Given the description of an element on the screen output the (x, y) to click on. 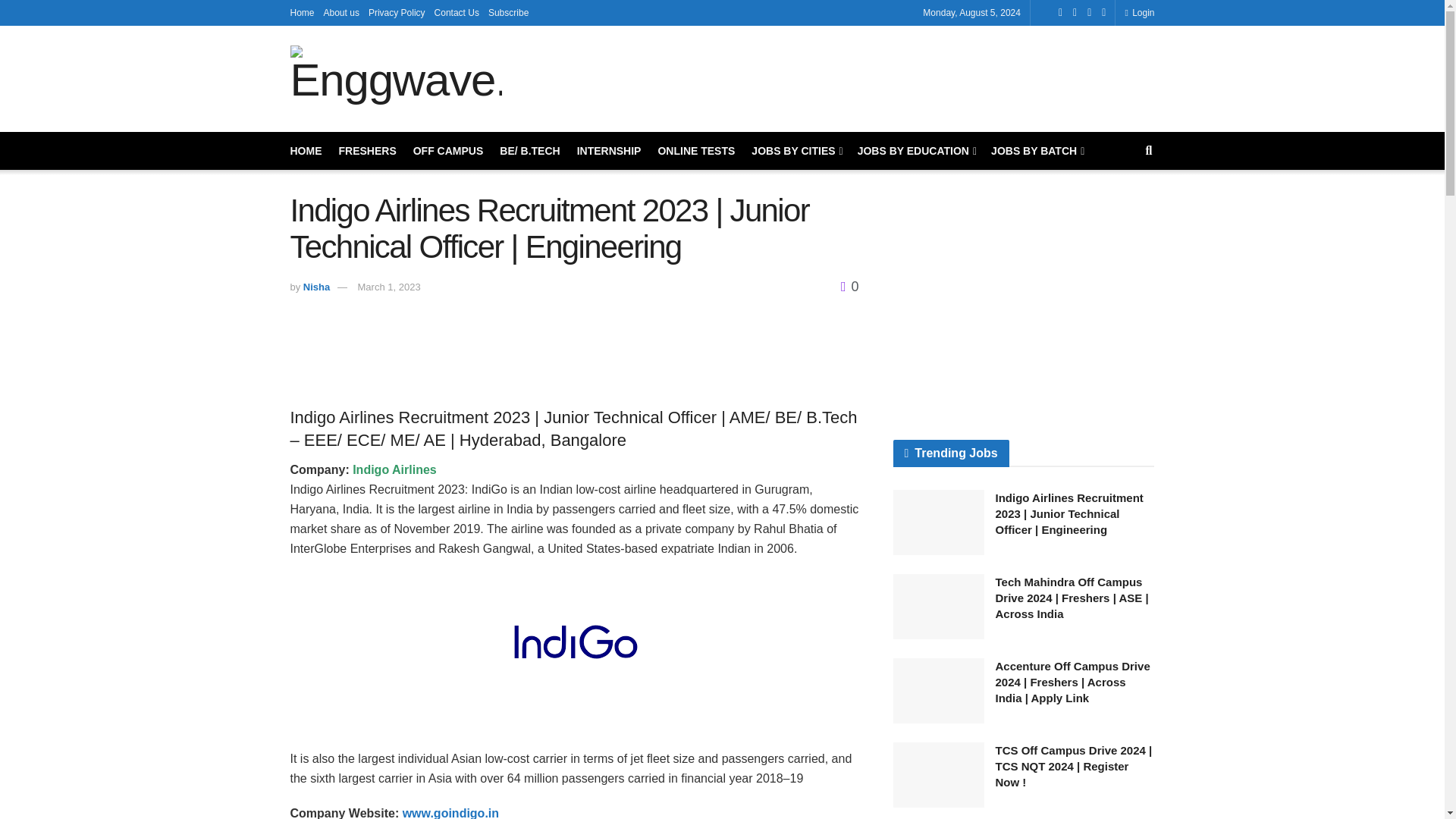
ONLINE TESTS (696, 150)
FRESHERS (366, 150)
HOME (305, 150)
JOBS BY CITIES (795, 150)
Subscribe (507, 12)
INTERNSHIP (609, 150)
About us (341, 12)
Home (301, 12)
Contact Us (456, 12)
OFF CAMPUS (448, 150)
Login (1139, 12)
Privacy Policy (396, 12)
